Given the description of an element on the screen output the (x, y) to click on. 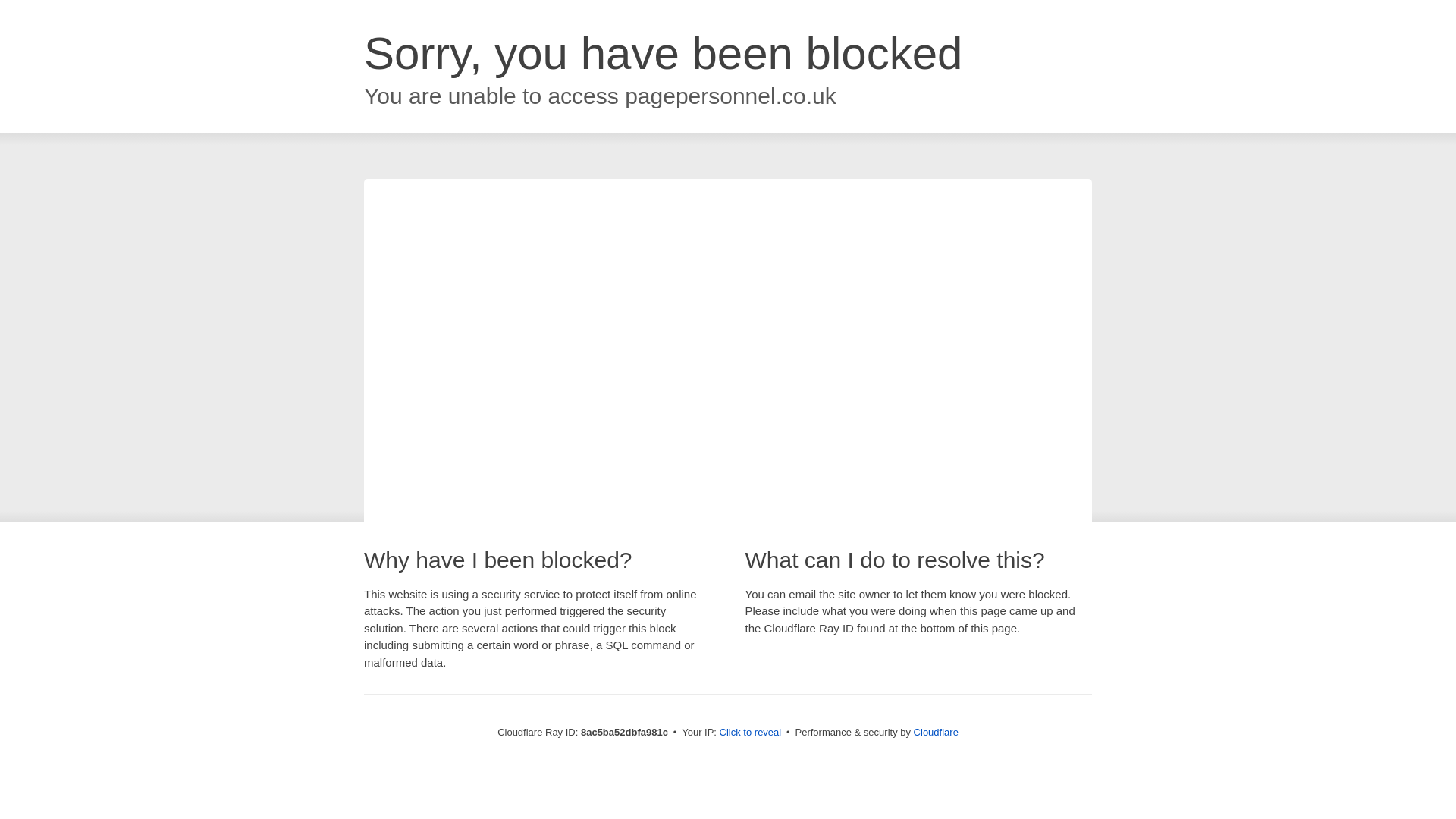
Cloudflare (936, 731)
Click to reveal (750, 732)
